Given the description of an element on the screen output the (x, y) to click on. 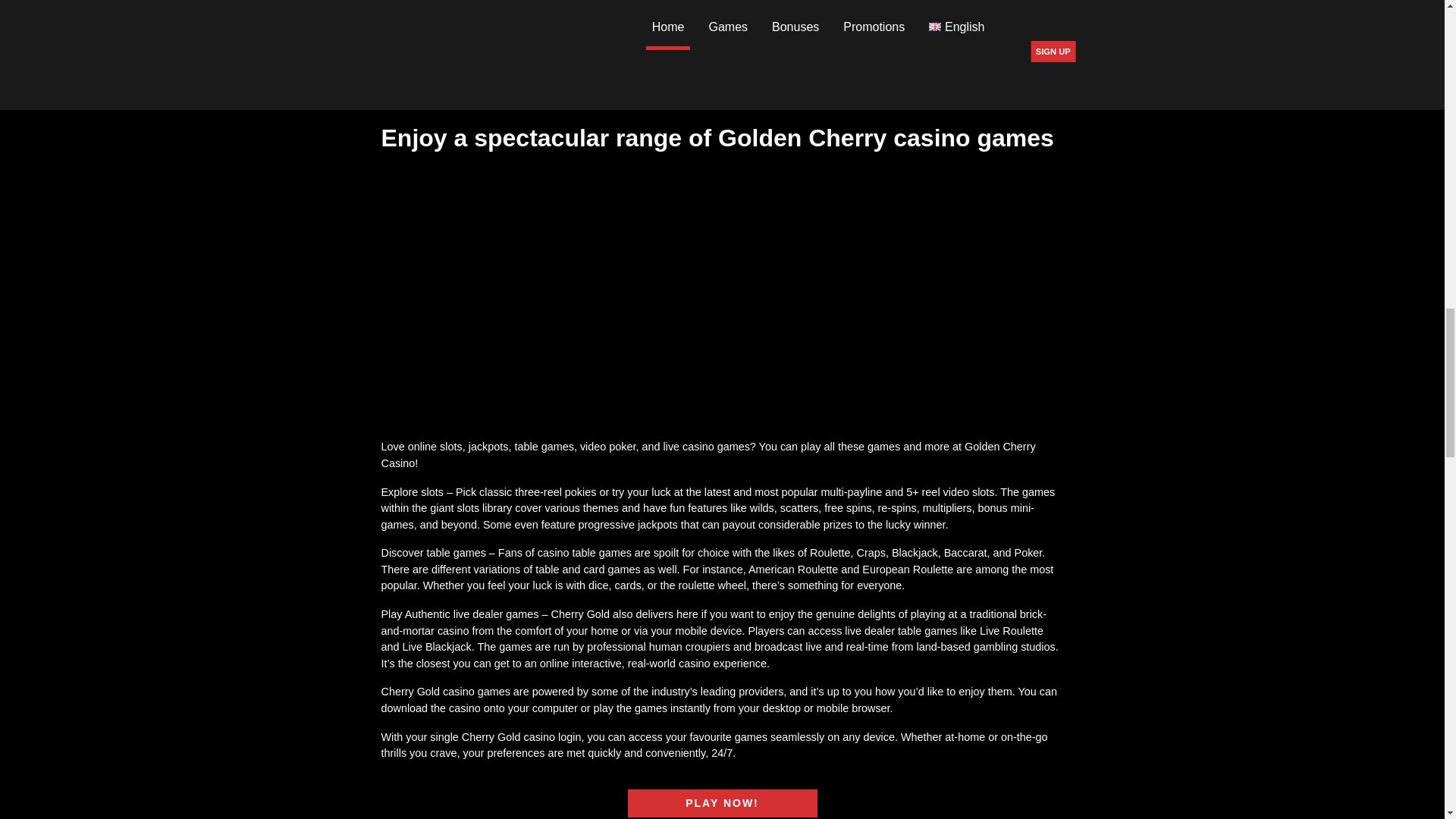
PLAY NOW! (721, 803)
PLAY NOW! (721, 82)
